Given the description of an element on the screen output the (x, y) to click on. 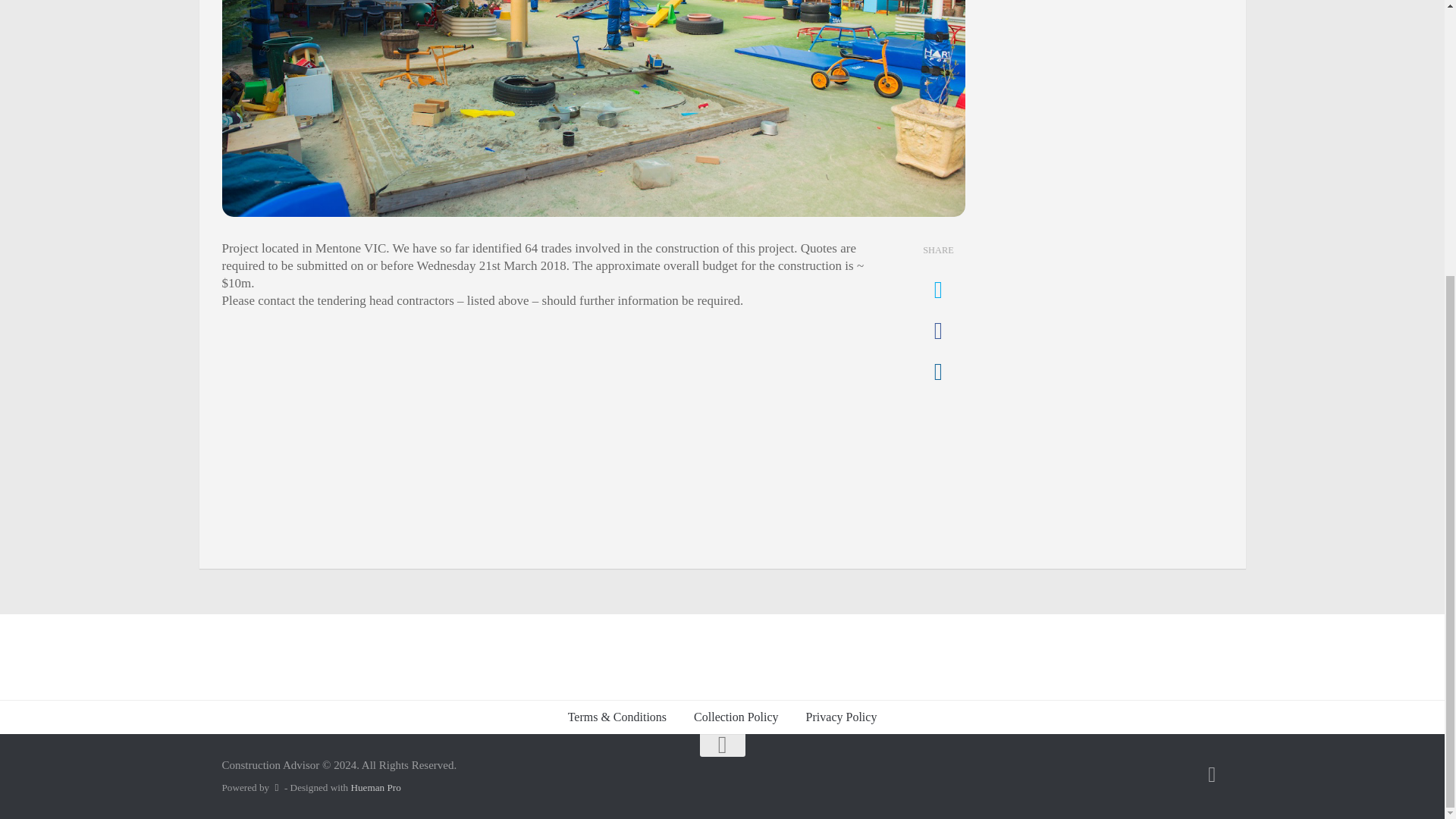
Hueman Pro (375, 787)
Follow us on Linkedin (1212, 774)
Powered by WordPress (275, 787)
Hueman Pro (375, 787)
Privacy Policy (841, 717)
Collection Policy (735, 717)
